Given the description of an element on the screen output the (x, y) to click on. 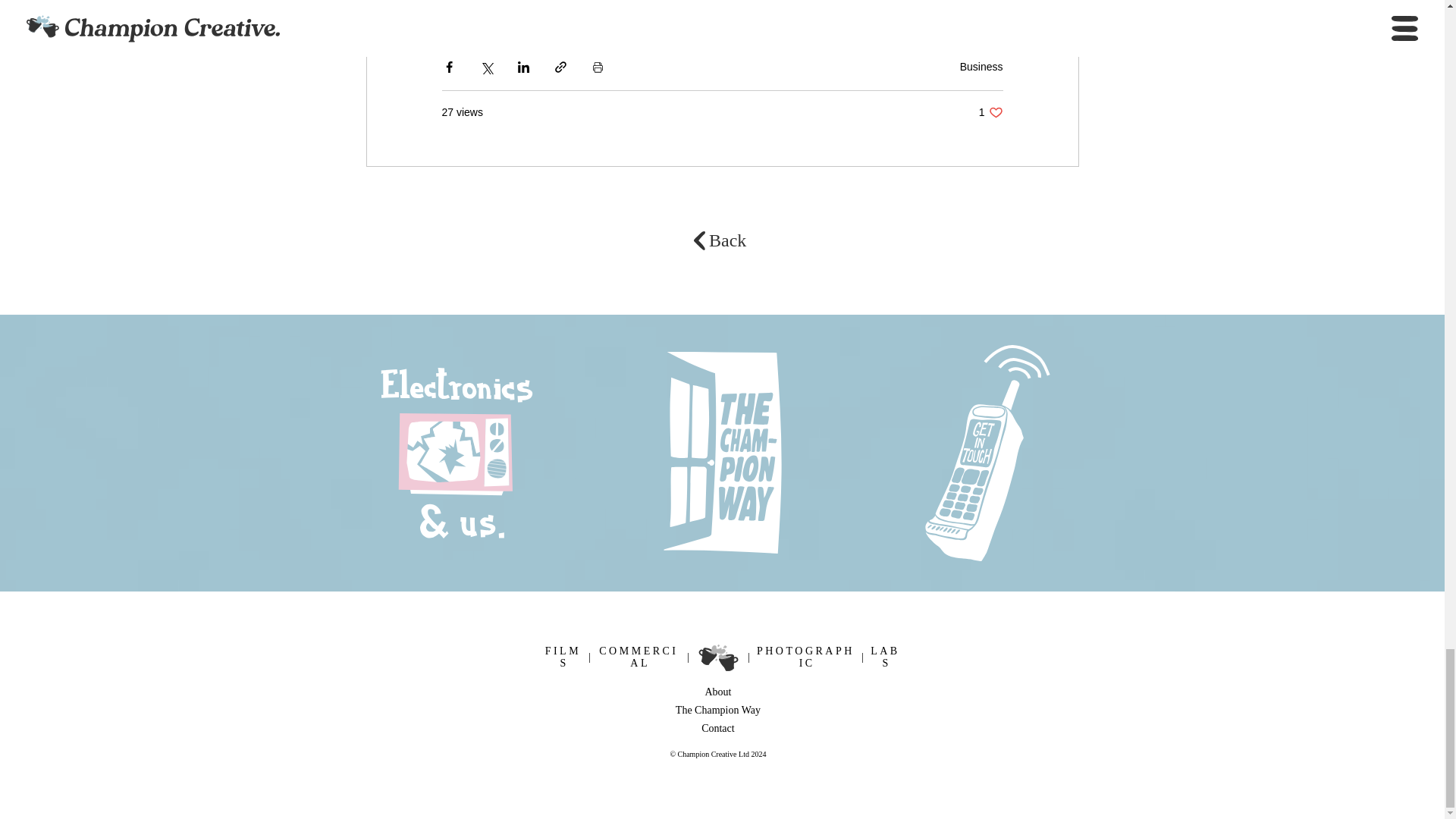
About (667, 1)
Business (981, 66)
Contact (990, 112)
The Champion Way (718, 727)
The Champion Way (717, 709)
Back (812, 1)
FILMS (727, 240)
LABS (562, 657)
PHOTOGRAPHIC (884, 657)
